Given the description of an element on the screen output the (x, y) to click on. 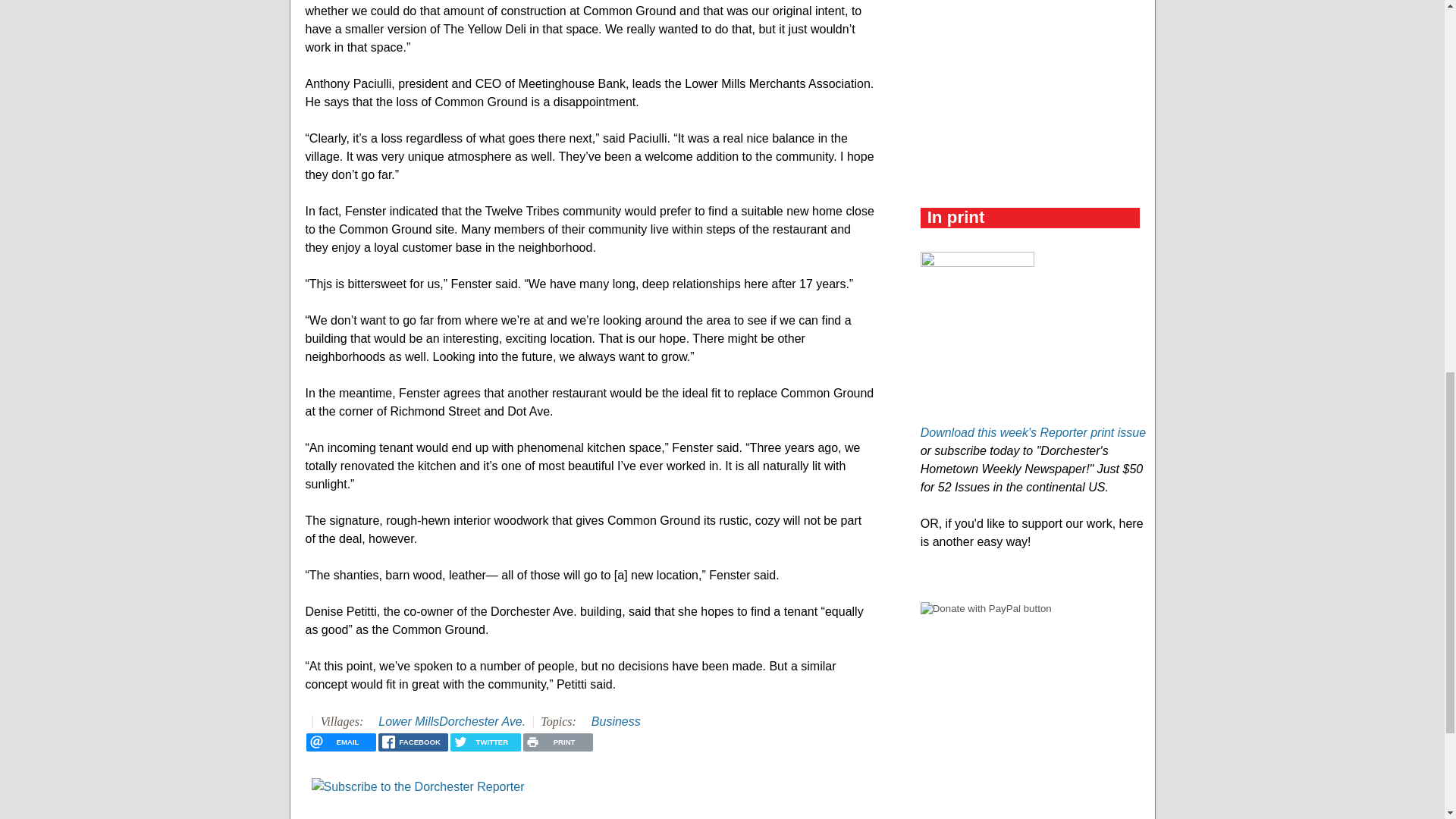
TWITTER (484, 742)
Download this week's Reporter print issue (1032, 431)
Dorchester Ave. (482, 721)
FACEBOOK (413, 742)
Business (615, 721)
Lower Mills (408, 721)
EMAIL (340, 742)
PRINT (557, 742)
log in (325, 816)
PayPal - The safer, easier way to pay online! (985, 608)
